Given the description of an element on the screen output the (x, y) to click on. 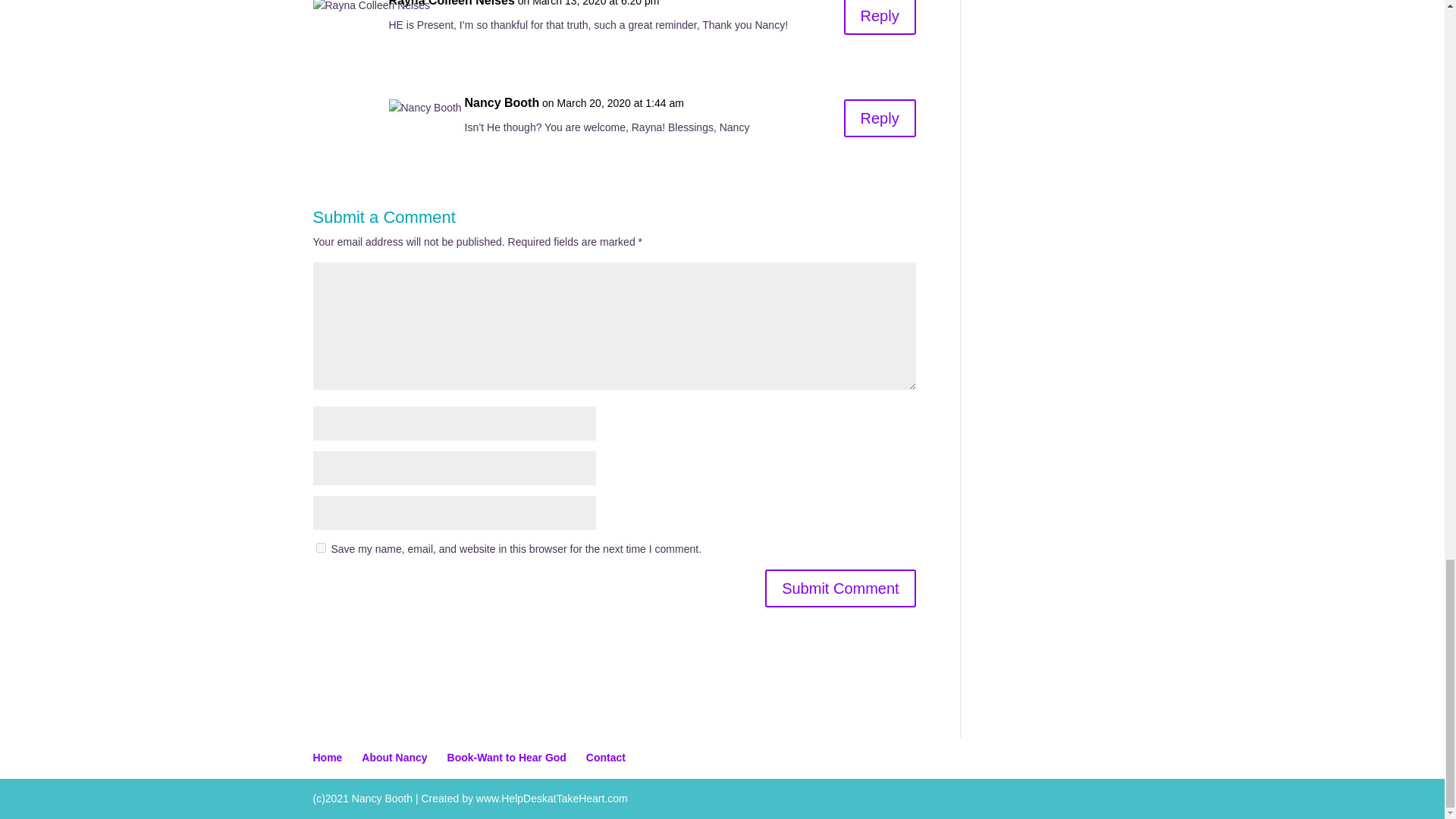
Rayna Colleen Neises (450, 4)
Submit Comment (840, 588)
Reply (879, 118)
Reply (879, 17)
Submit Comment (840, 588)
yes (319, 547)
